Given the description of an element on the screen output the (x, y) to click on. 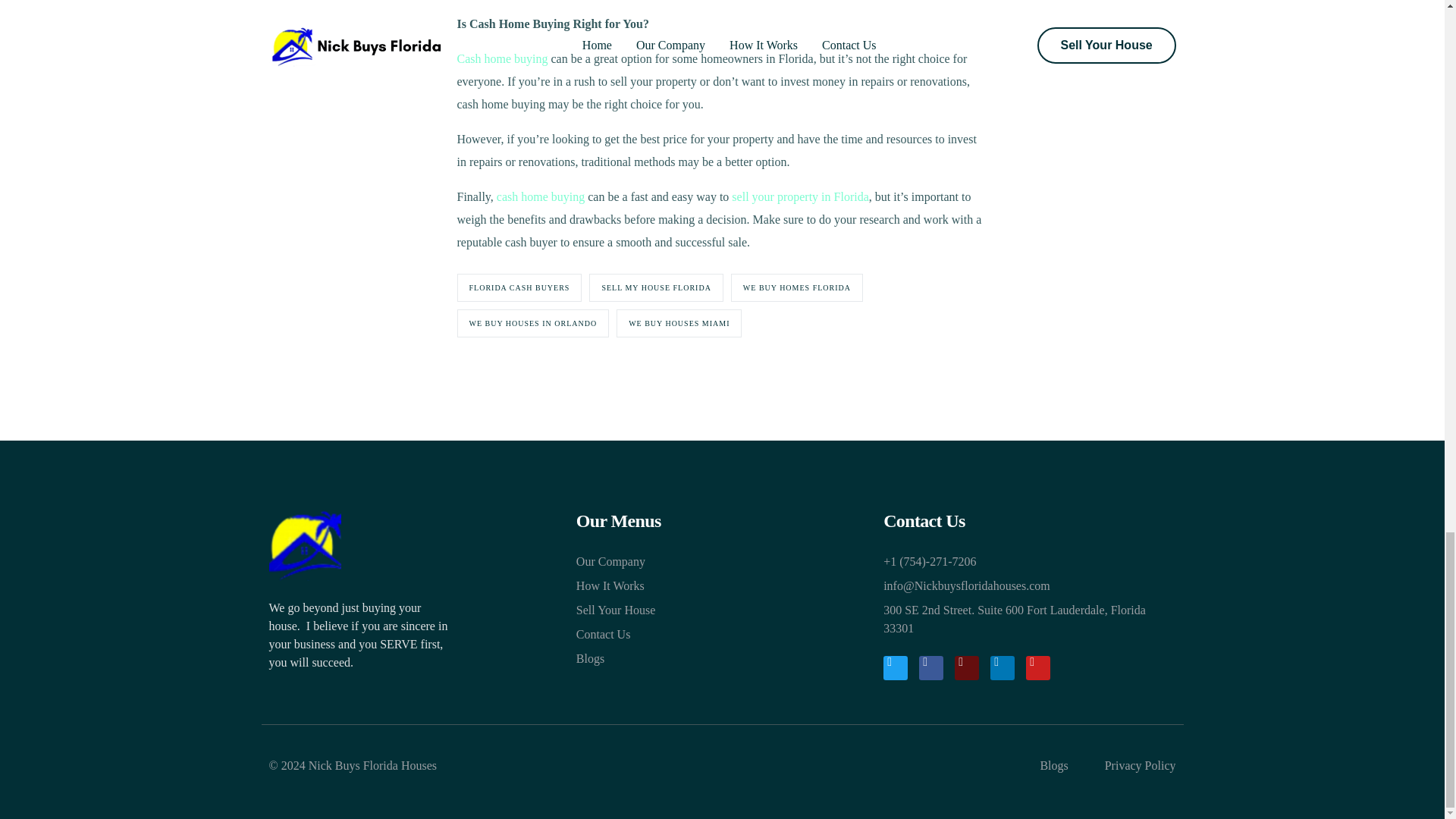
SELL MY HOUSE FLORIDA (655, 287)
Cash home buying (502, 58)
300 SE 2nd Street. Suite 600 Fort Lauderdale, Florida 33301 (1028, 619)
cash home buying (540, 196)
WE BUY HOUSES MIAMI (678, 323)
Blogs (721, 659)
FLORIDA CASH BUYERS (518, 287)
sell your property in Florida (799, 196)
Sell Your House (721, 610)
How It Works (721, 586)
Contact Us (721, 634)
WE BUY HOMES FLORIDA (796, 287)
WE BUY HOUSES IN ORLANDO (532, 323)
Our Company (721, 561)
